Given the description of an element on the screen output the (x, y) to click on. 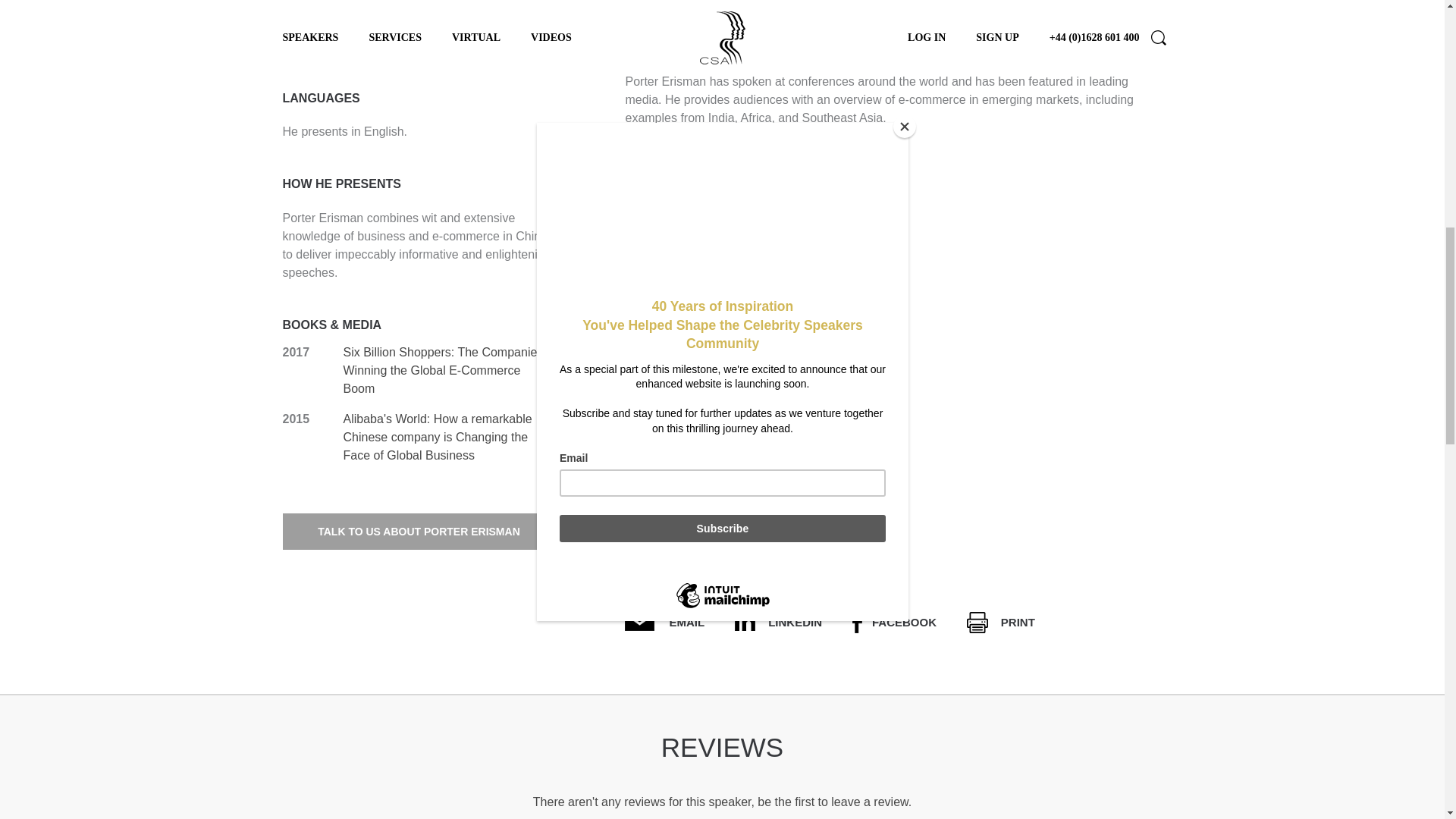
EMAIL (664, 622)
LINKEDIN (778, 622)
TALK TO US ABOUT PORTER ERISMAN (418, 531)
PRINT (1000, 622)
FACEBOOK (893, 622)
